Given the description of an element on the screen output the (x, y) to click on. 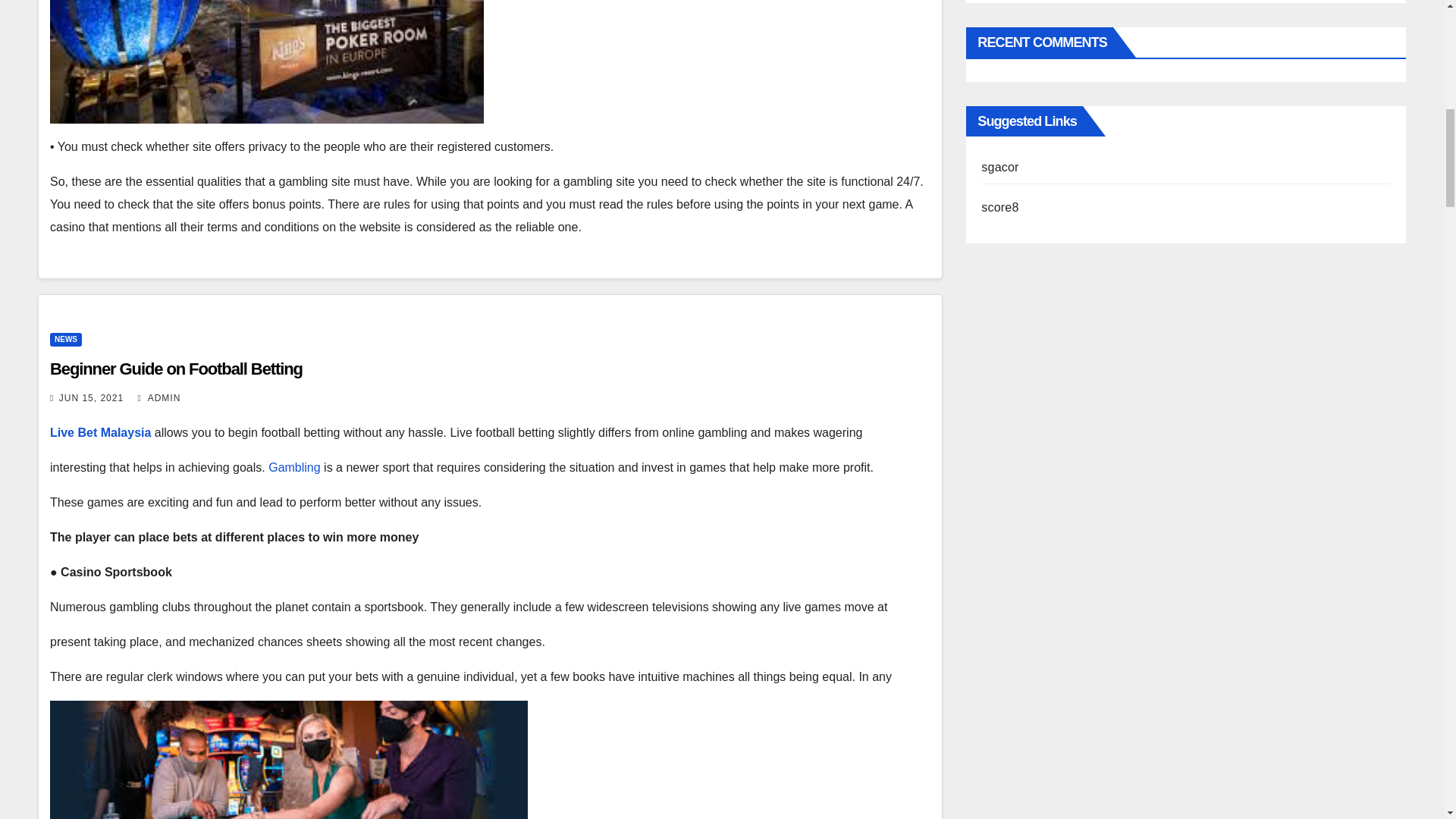
Gambling (293, 467)
Beginner Guide on Football Betting (175, 368)
JUN 15, 2021 (91, 398)
Live Bet Malaysia (100, 431)
NEWS (65, 339)
ADMIN (159, 398)
